Given the description of an element on the screen output the (x, y) to click on. 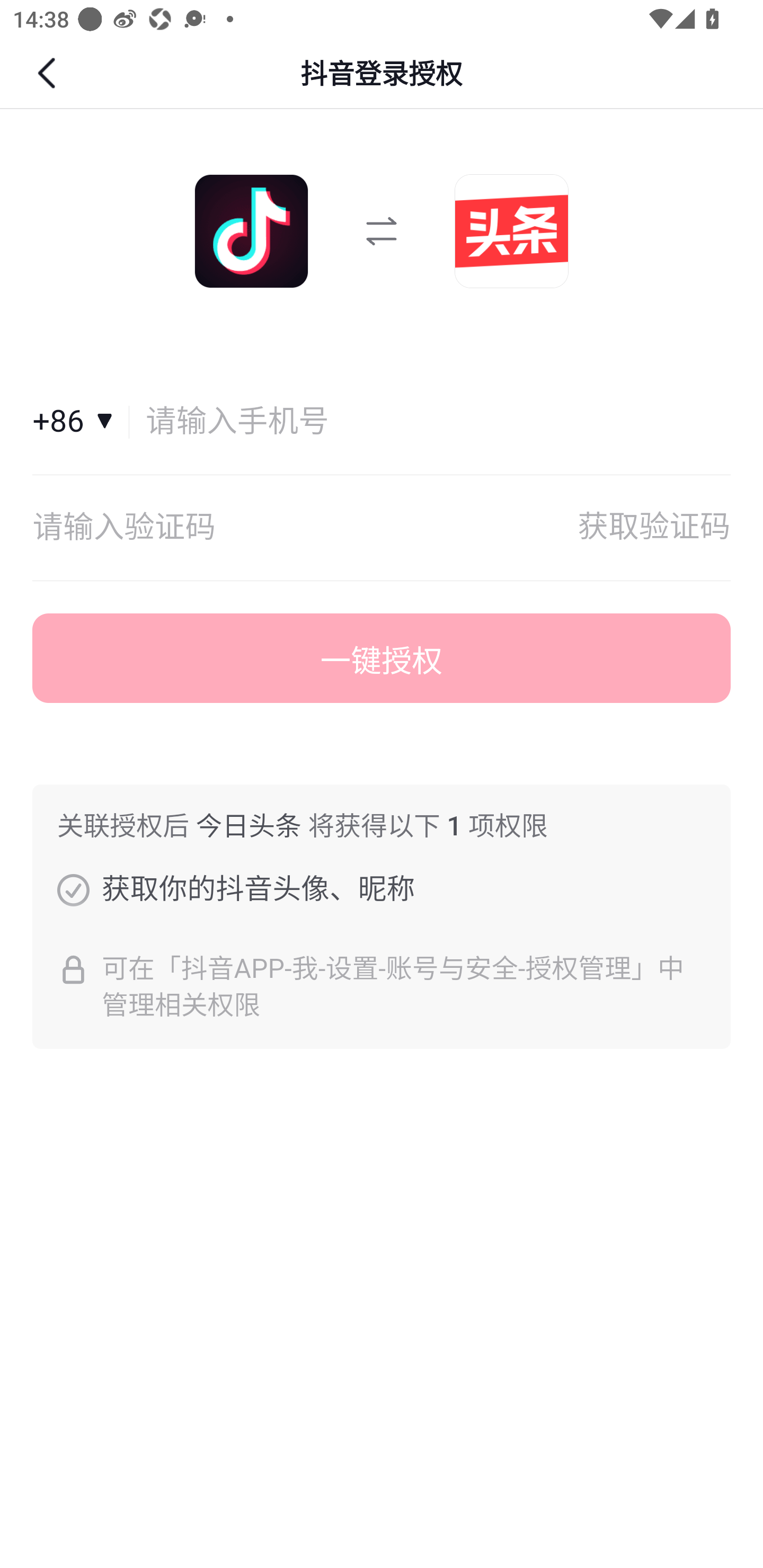
返回 (49, 72)
国家和地区+86 (81, 421)
获取验证码 (653, 527)
一键授权 (381, 658)
获取你的抖音头像、昵称 (72, 889)
